Given the description of an element on the screen output the (x, y) to click on. 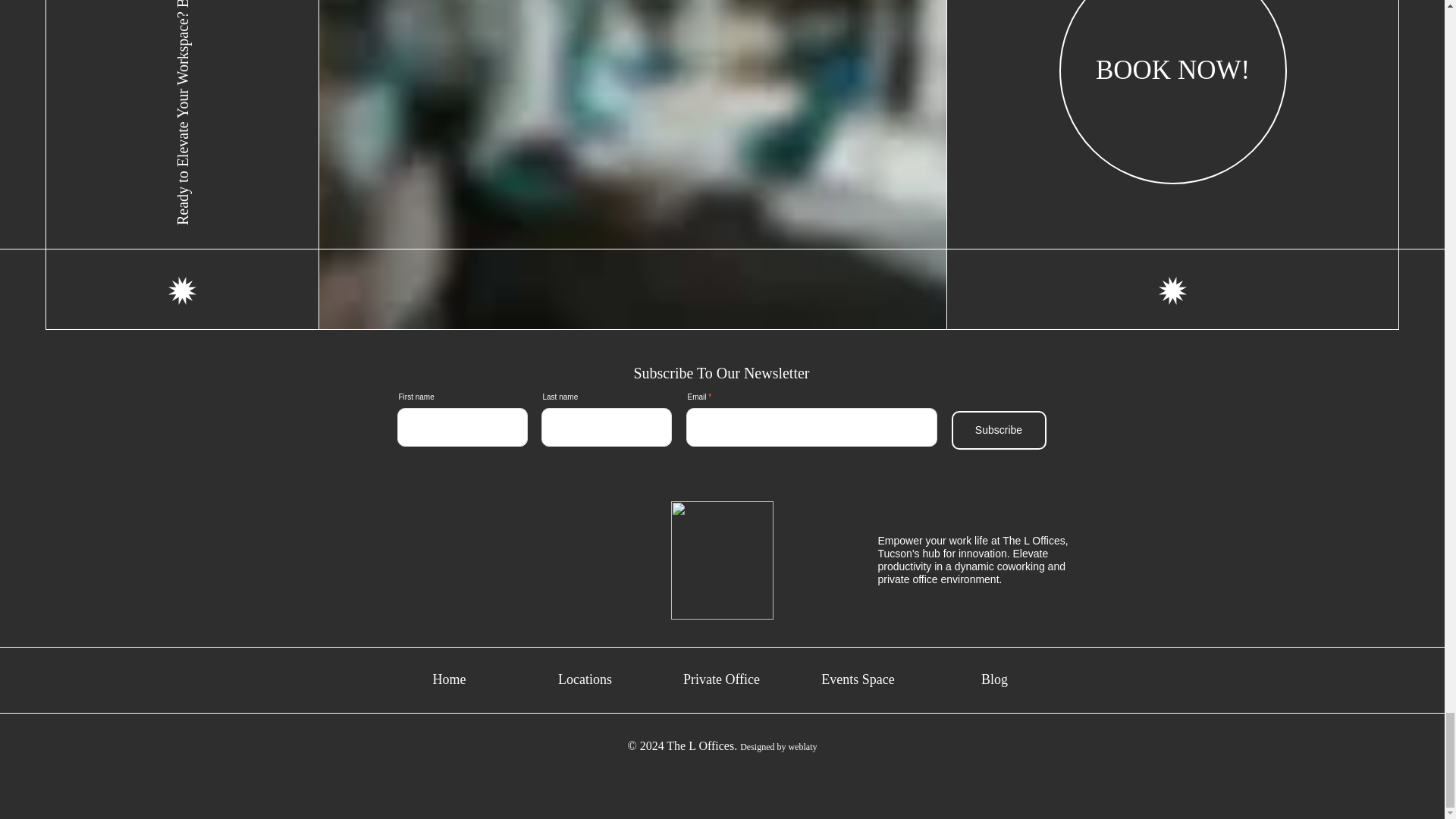
Events Space (857, 679)
Subscribe (997, 430)
Private Office (720, 679)
Home (449, 679)
Blog (994, 679)
BOOK NOW! (1173, 92)
Locations (585, 679)
